Given the description of an element on the screen output the (x, y) to click on. 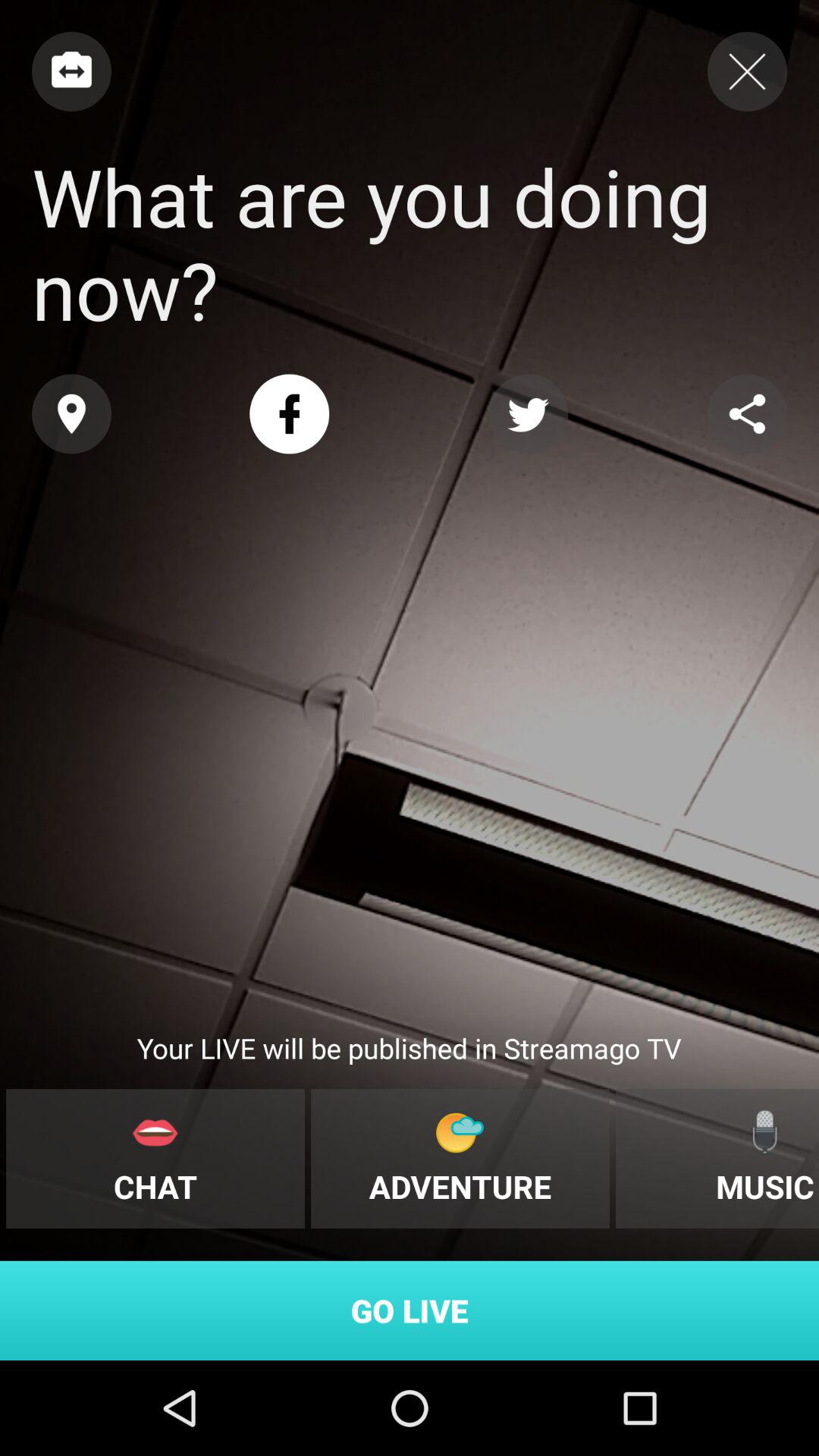
previous page (71, 71)
